Given the description of an element on the screen output the (x, y) to click on. 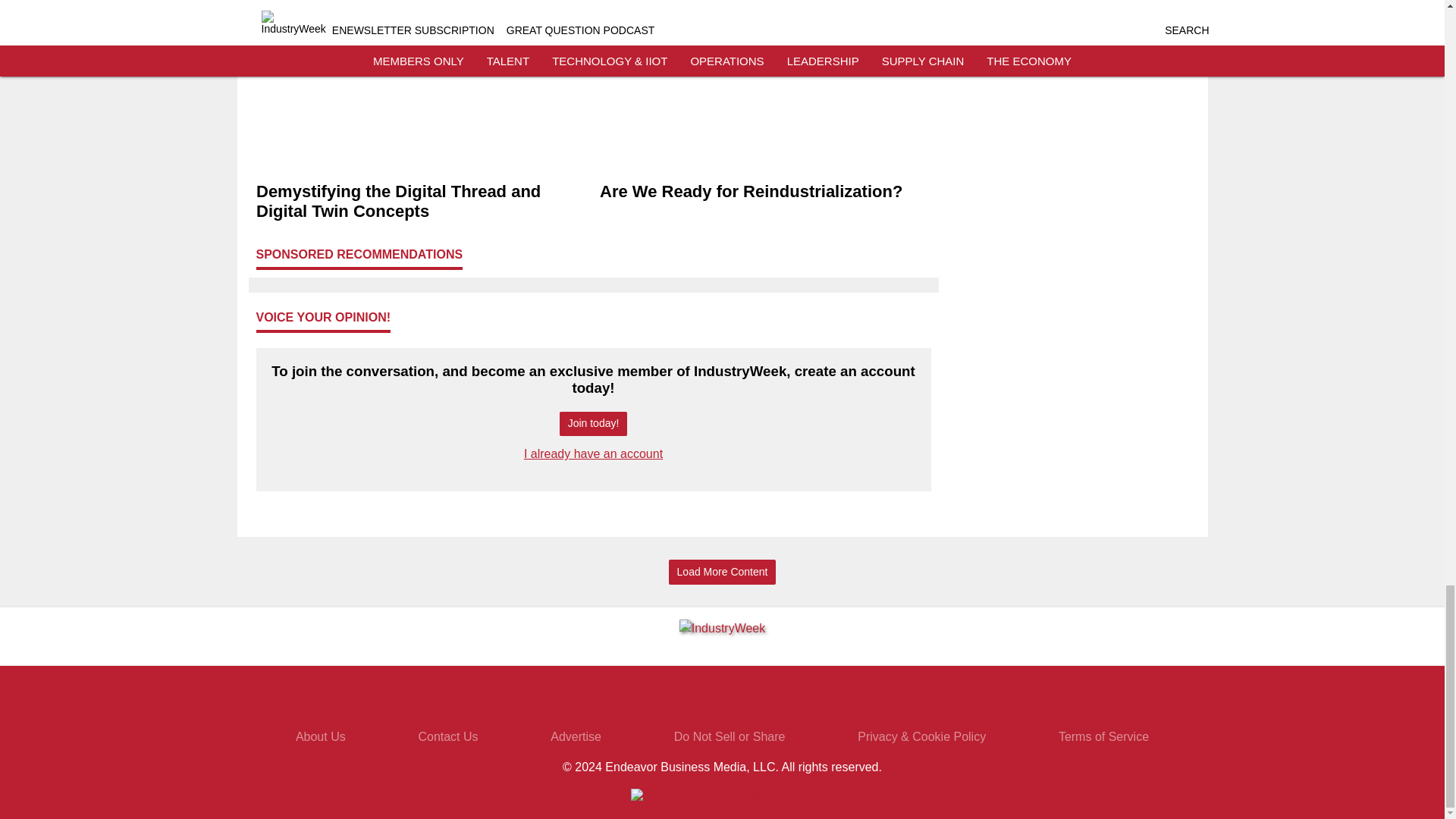
Demystifying the Digital Thread and Digital Twin Concepts (422, 201)
Are We Ready for Reindustrialization? (764, 192)
I already have an account (593, 453)
Join today! (593, 423)
